Given the description of an element on the screen output the (x, y) to click on. 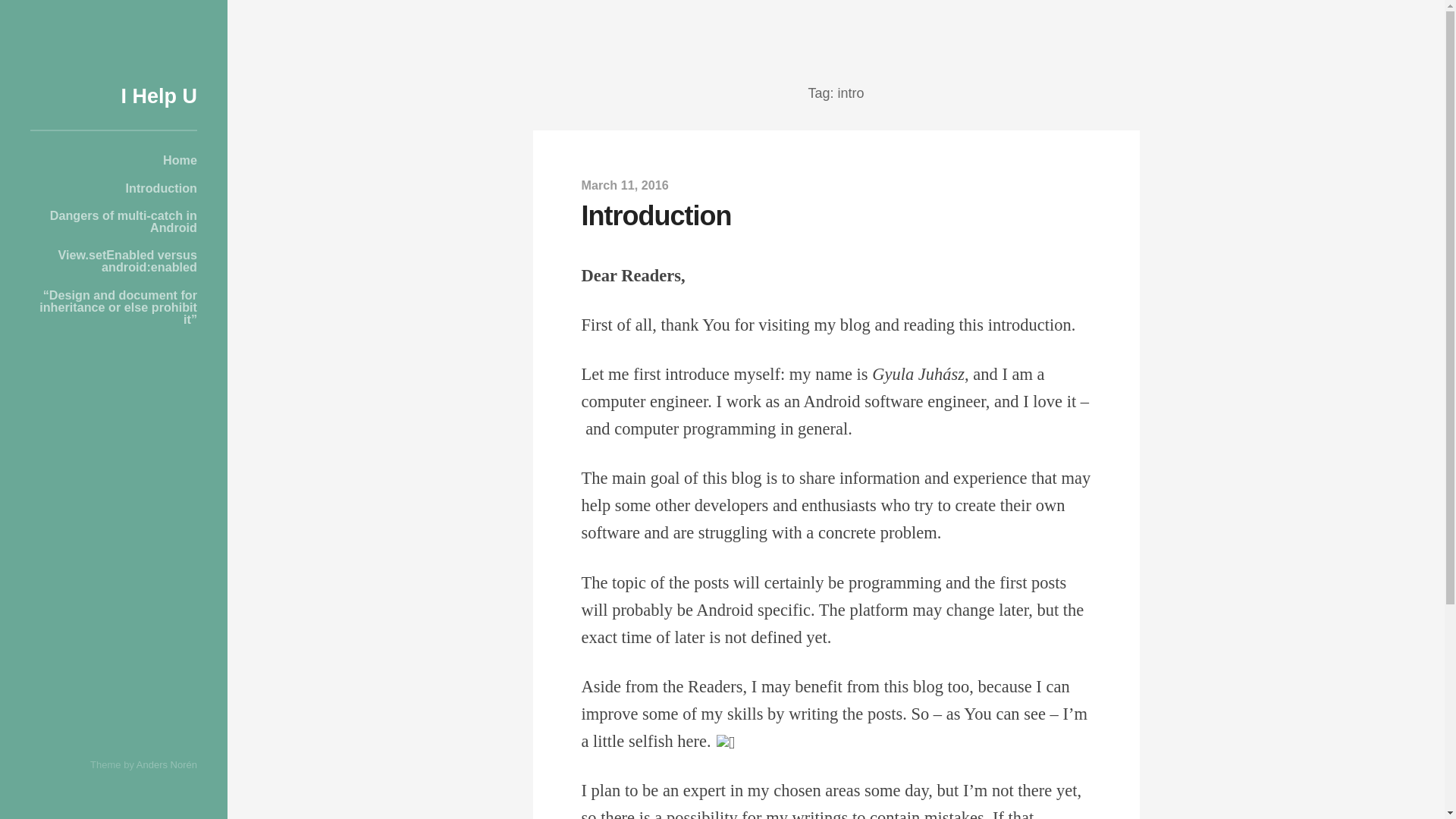
I Help U (158, 96)
View.setEnabled versus android:enabled (113, 260)
Home (113, 159)
Introduction (624, 184)
March 11, 2016 (624, 184)
Dangers of multi-catch in Android (113, 221)
Introduction (655, 214)
Introduction (655, 214)
Introduction (113, 187)
